Given the description of an element on the screen output the (x, y) to click on. 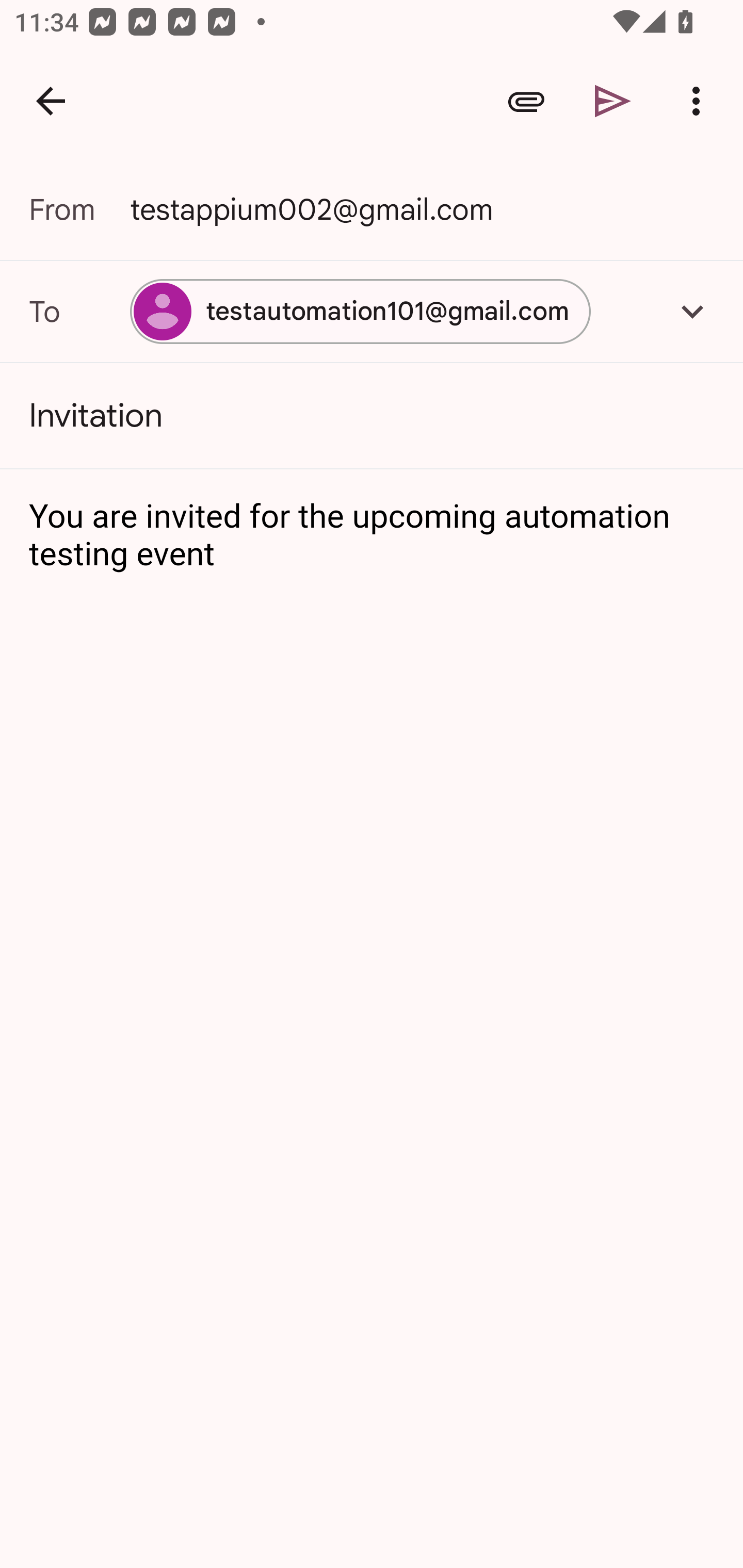
Navigate up (50, 101)
Attach file (525, 101)
Send (612, 101)
More options (699, 101)
From (79, 209)
Add Cc/Bcc (692, 311)
Invitation (371, 415)
